Given the description of an element on the screen output the (x, y) to click on. 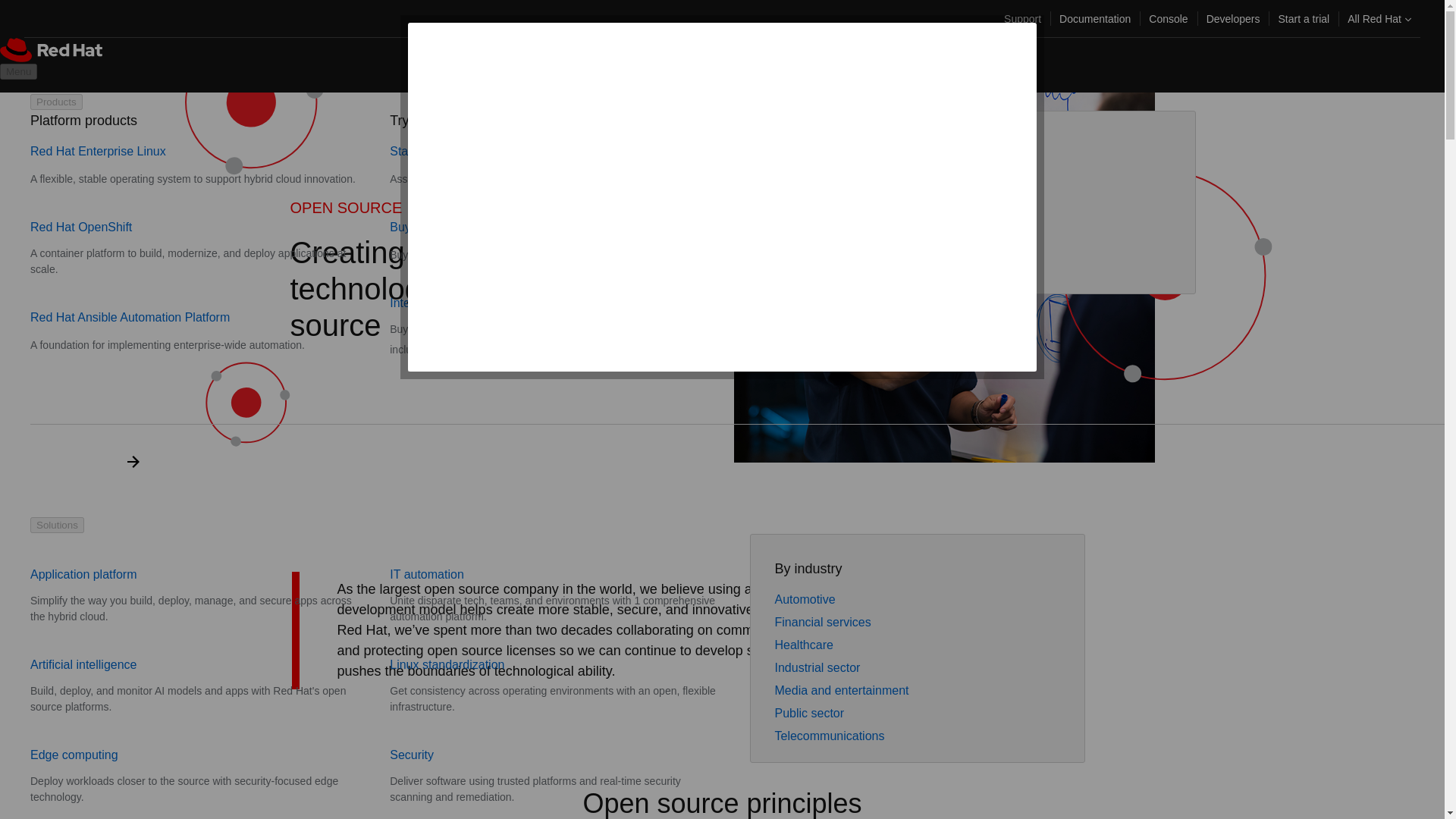
Support (1021, 18)
Console (1168, 18)
All Red Hat (1379, 18)
Start a trial (1303, 18)
Developers (1232, 18)
Start a trialAssess a product with a no-cost trial. (505, 165)
Documentation (1094, 18)
